Given the description of an element on the screen output the (x, y) to click on. 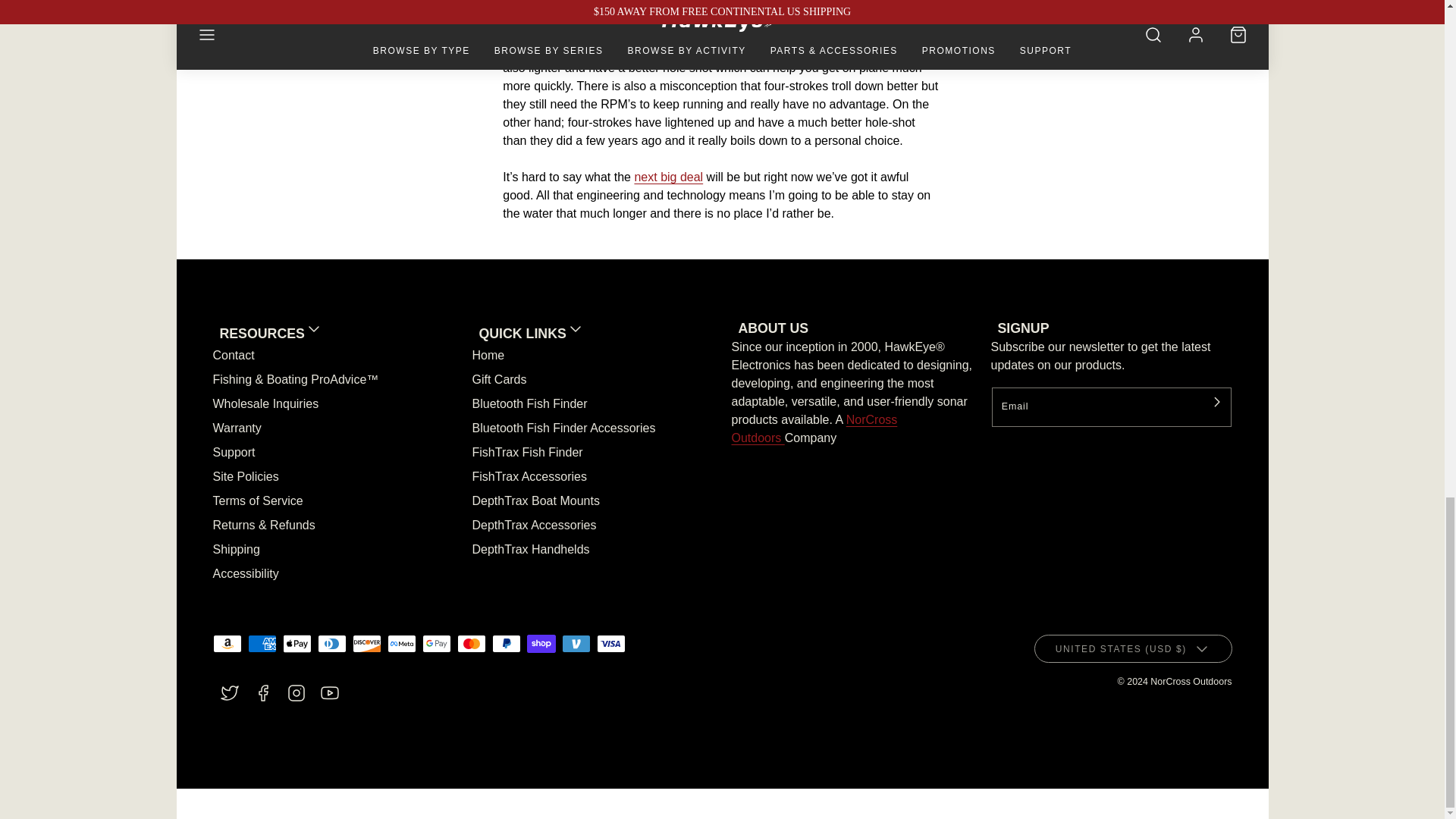
Meta Pay (400, 643)
Visa (609, 643)
Google Pay (435, 643)
American Express (261, 643)
Diners Club (331, 643)
Apple Pay (296, 643)
Mastercard (470, 643)
Amazon (226, 643)
Venmo (574, 643)
PayPal (505, 643)
